Given the description of an element on the screen output the (x, y) to click on. 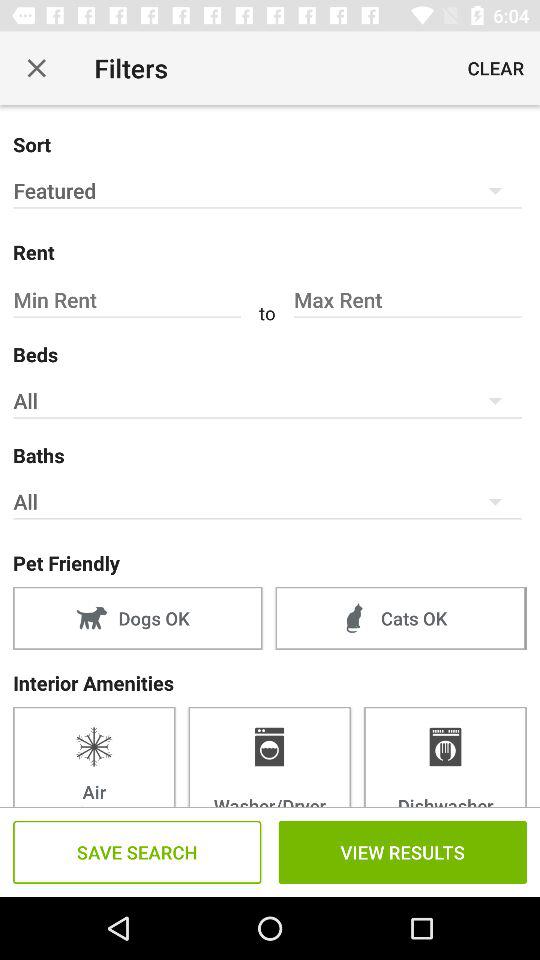
open item to the left of cats ok (137, 617)
